Given the description of an element on the screen output the (x, y) to click on. 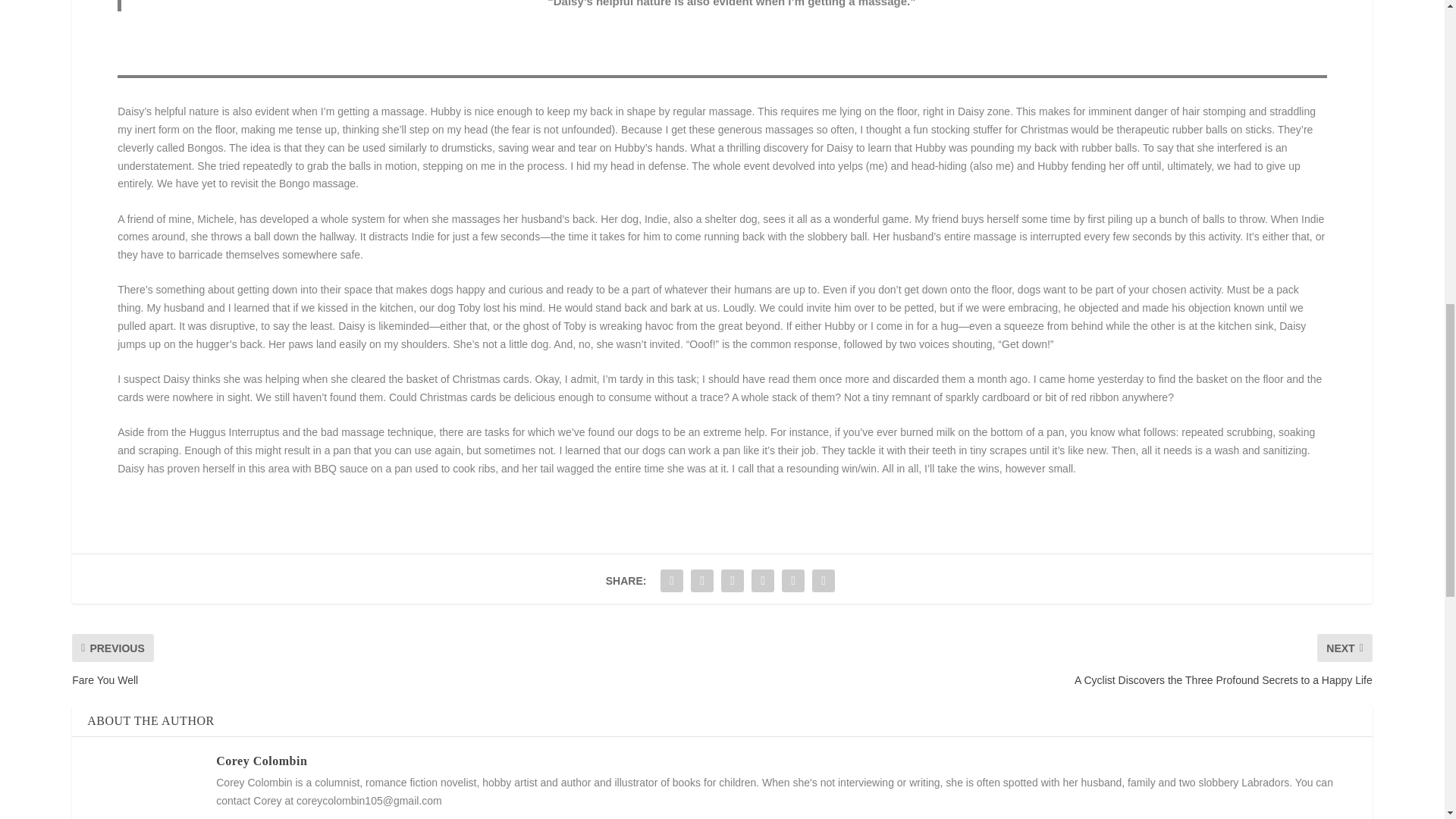
Share "Special Helpers" via Pinterest (762, 580)
Share "Special Helpers" via Email (823, 580)
Share "Special Helpers" via Facebook (671, 580)
Share "Special Helpers" via LinkedIn (792, 580)
View all posts by Corey Colombin (261, 760)
Share "Special Helpers" via Twitter (702, 580)
